Given the description of an element on the screen output the (x, y) to click on. 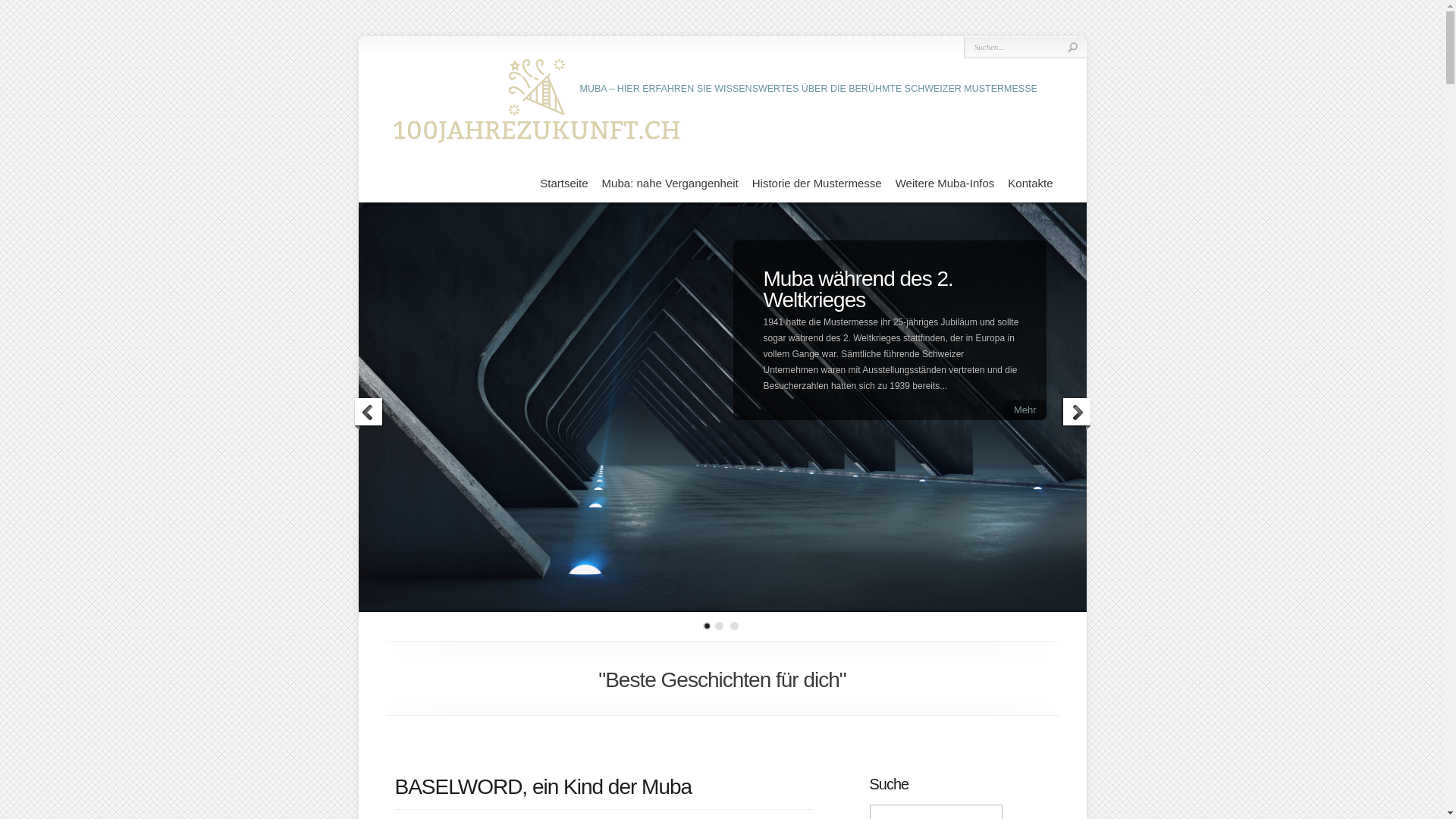
2 Element type: text (719, 625)
Kontakte Element type: text (1029, 183)
Startseite Element type: text (563, 183)
Historie der Mustermesse Element type: text (816, 183)
Mehr Element type: text (1025, 409)
Next Element type: text (1075, 413)
Weitere Muba-Infos Element type: text (944, 183)
1 Element type: text (706, 625)
Previous Element type: text (368, 413)
Muba: nahe Vergangenheit Element type: text (670, 183)
BASELWORD, ein Kind der Muba Element type: text (542, 786)
3 Element type: text (734, 625)
